Given the description of an element on the screen output the (x, y) to click on. 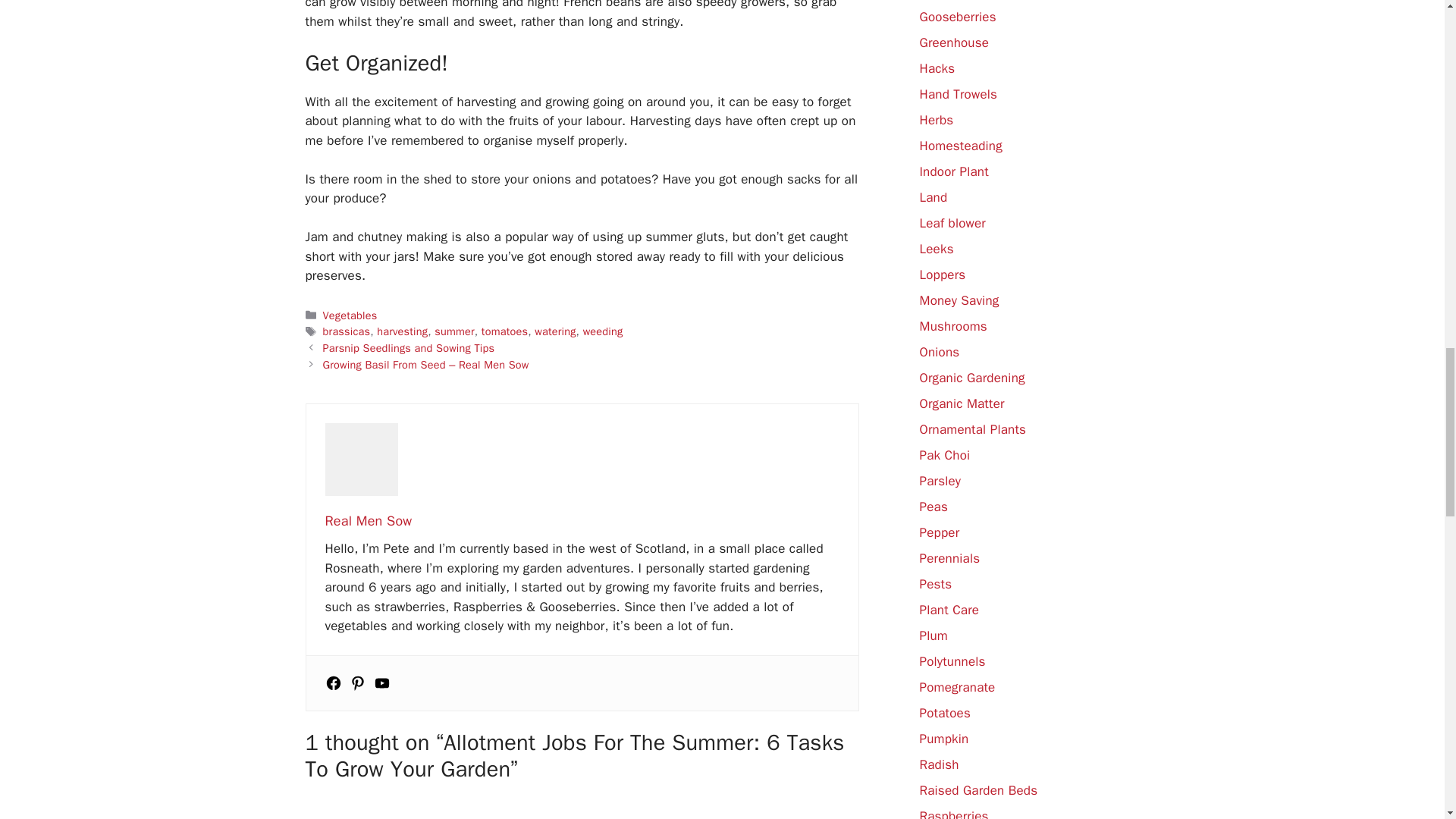
Real Men Sow (368, 520)
Parsnip Seedlings and Sowing Tips (409, 347)
weeding (603, 331)
brassicas (347, 331)
tomatoes (504, 331)
watering (554, 331)
harvesting (402, 331)
summer (453, 331)
Vegetables (350, 315)
